Given the description of an element on the screen output the (x, y) to click on. 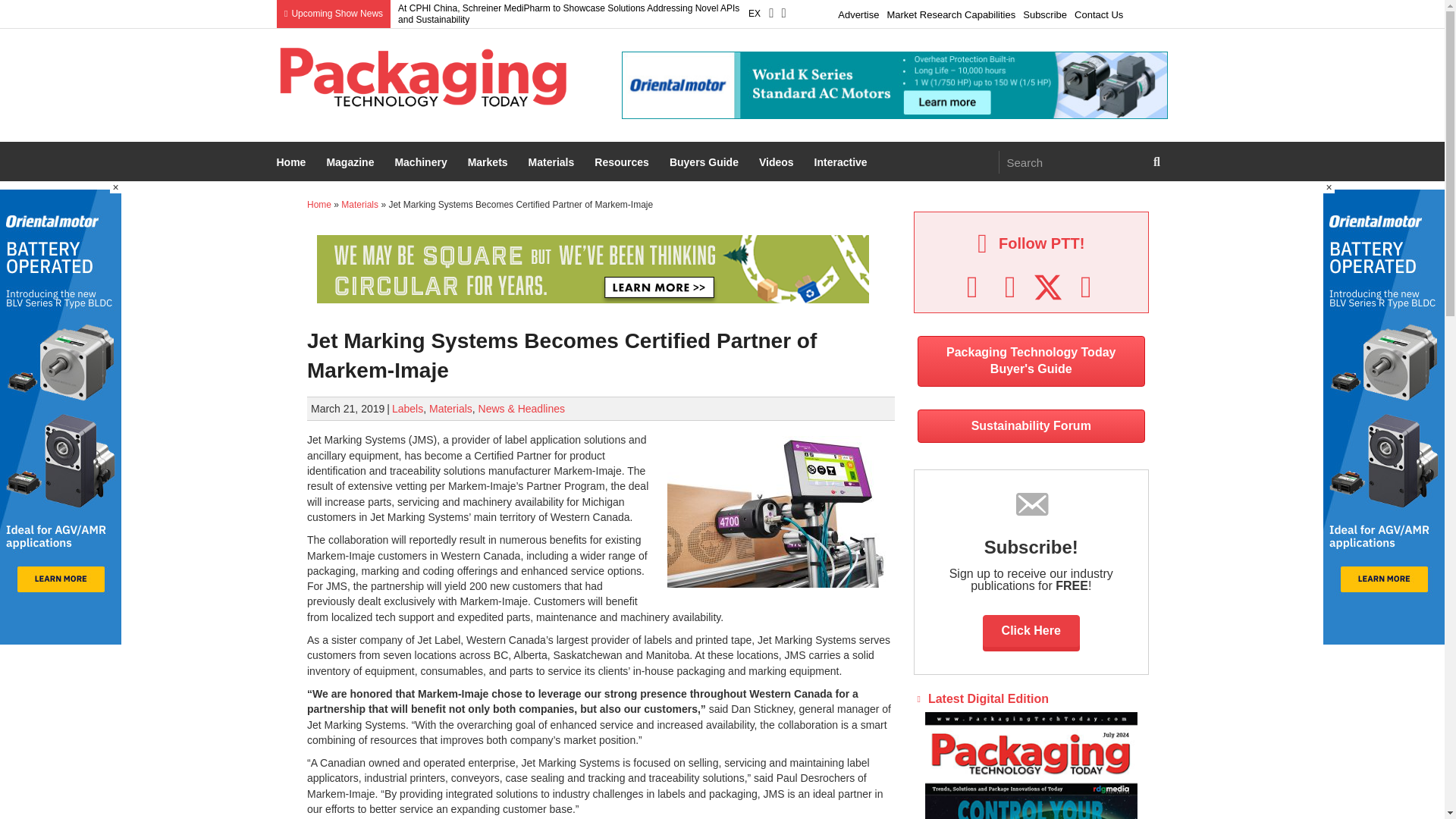
close (115, 187)
Market Research Capabilities (950, 11)
Facebook (972, 287)
2021PCK-Logo (422, 77)
Subscribe (1044, 11)
LinkedIn (1009, 287)
Machinery (421, 162)
close (1329, 187)
Advertise (858, 11)
Contact Us (1098, 11)
Home (292, 162)
Search (1071, 161)
Magazine (351, 162)
YouTube (1085, 287)
